Given the description of an element on the screen output the (x, y) to click on. 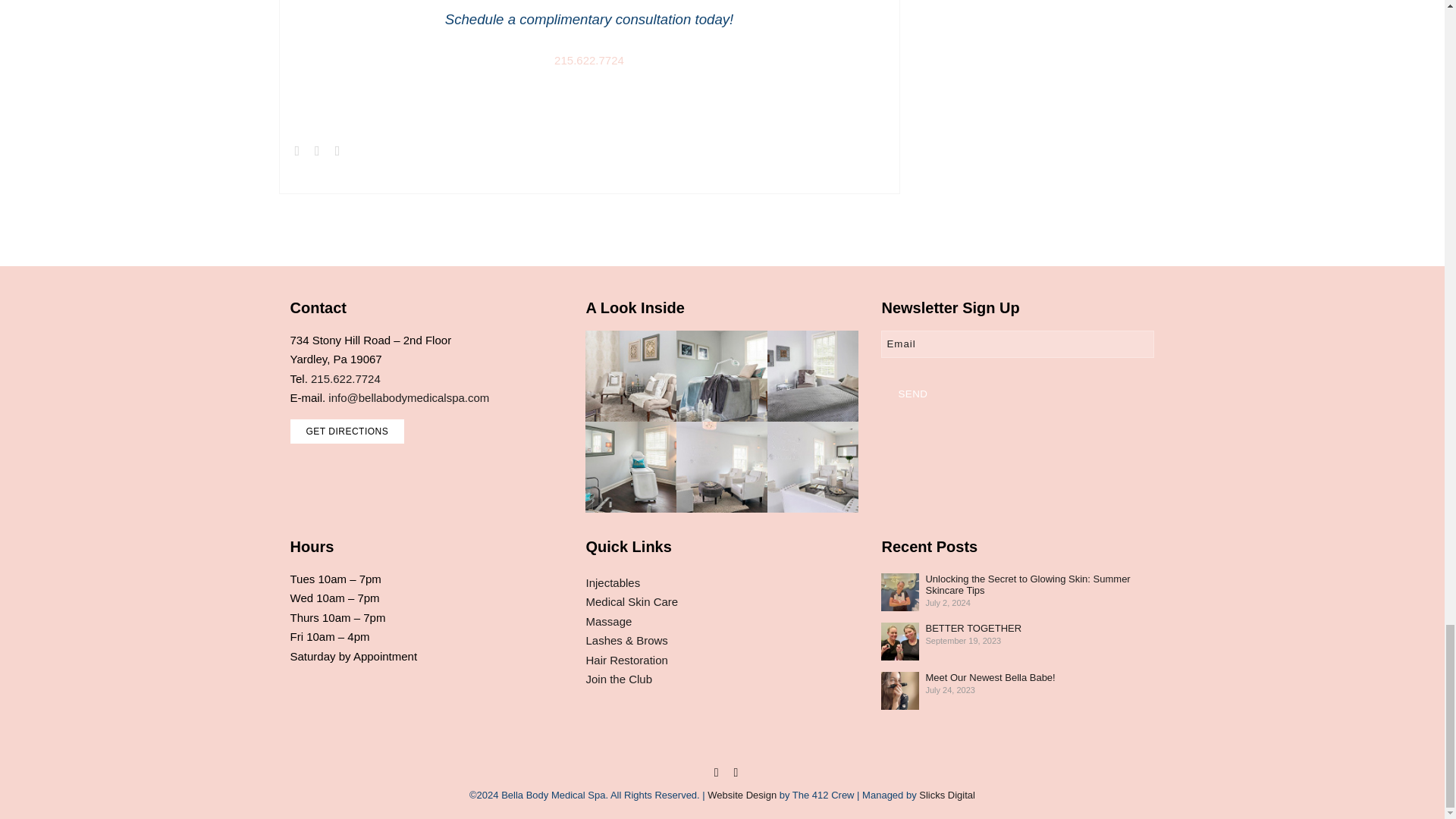
Send (911, 393)
Facebook (716, 772)
